Given the description of an element on the screen output the (x, y) to click on. 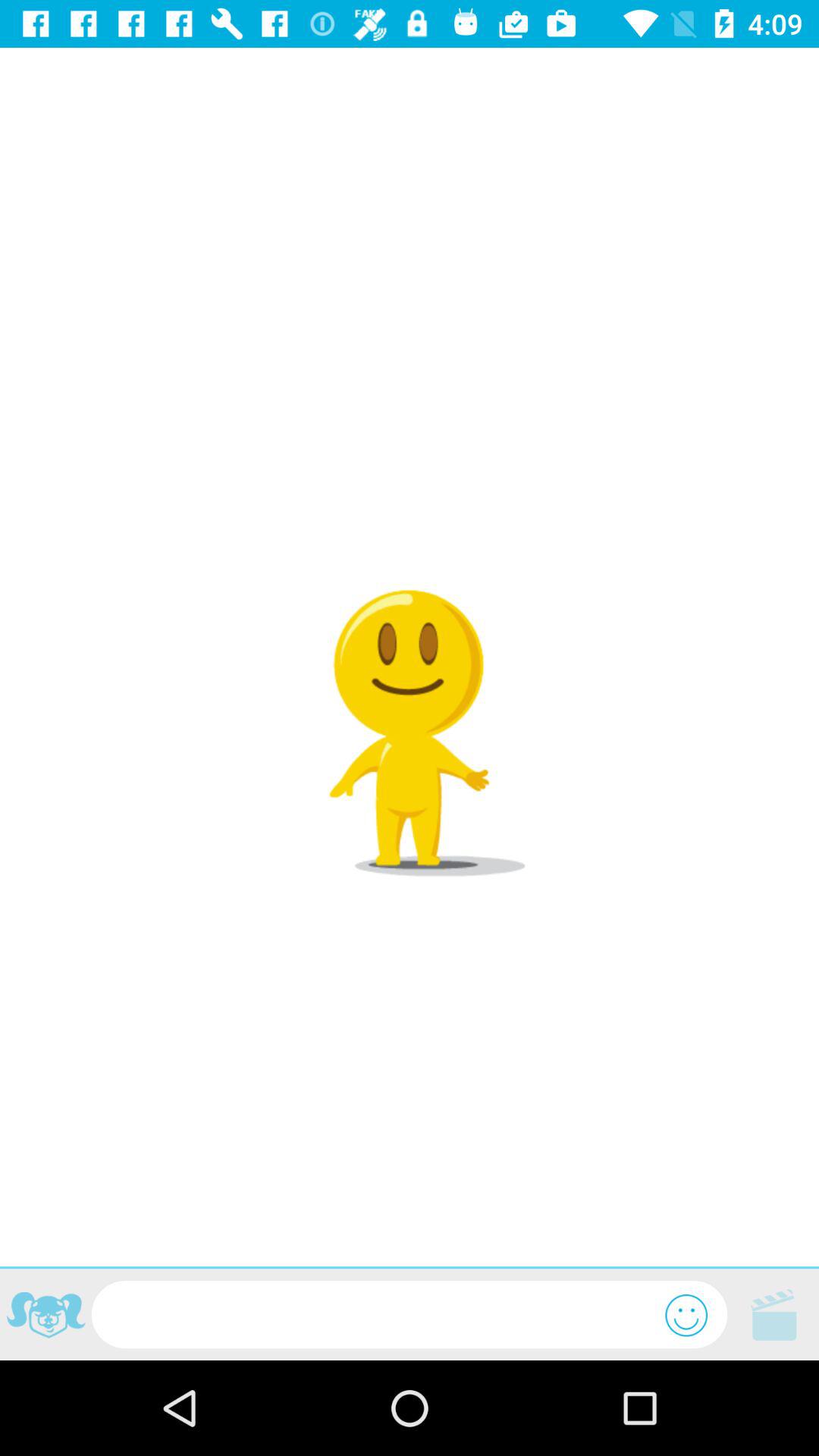
image blink (45, 1317)
